Given the description of an element on the screen output the (x, y) to click on. 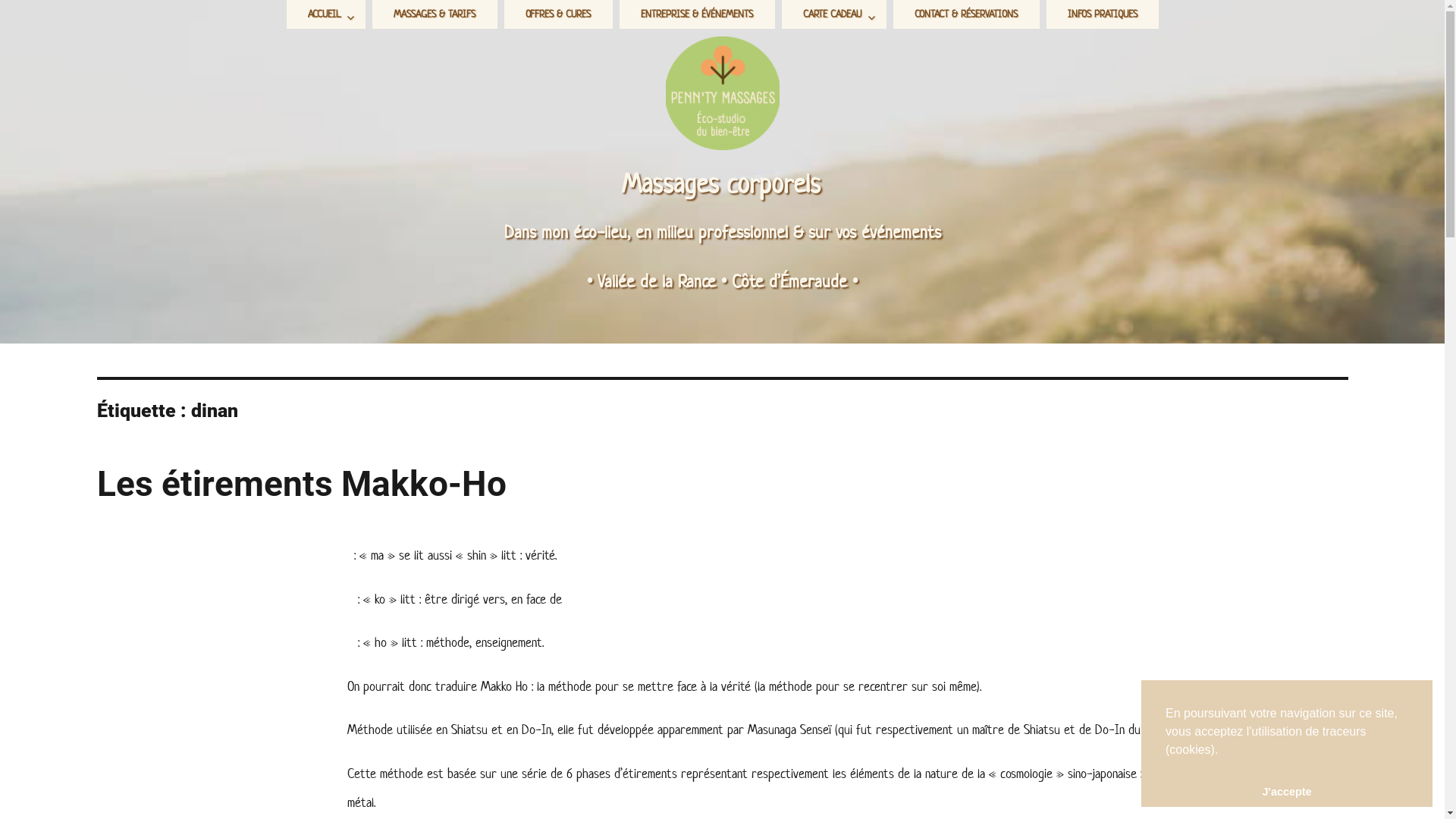
logo pennty Element type: hover (722, 93)
OFFRES & CURES Element type: text (557, 14)
INFOS PRATIQUES Element type: text (1102, 14)
CARTE CADEAU Element type: text (833, 14)
MASSAGES & TARIFS Element type: text (434, 14)
J'accepte Element type: text (1286, 791)
ACCUEIL Element type: text (325, 14)
